Given the description of an element on the screen output the (x, y) to click on. 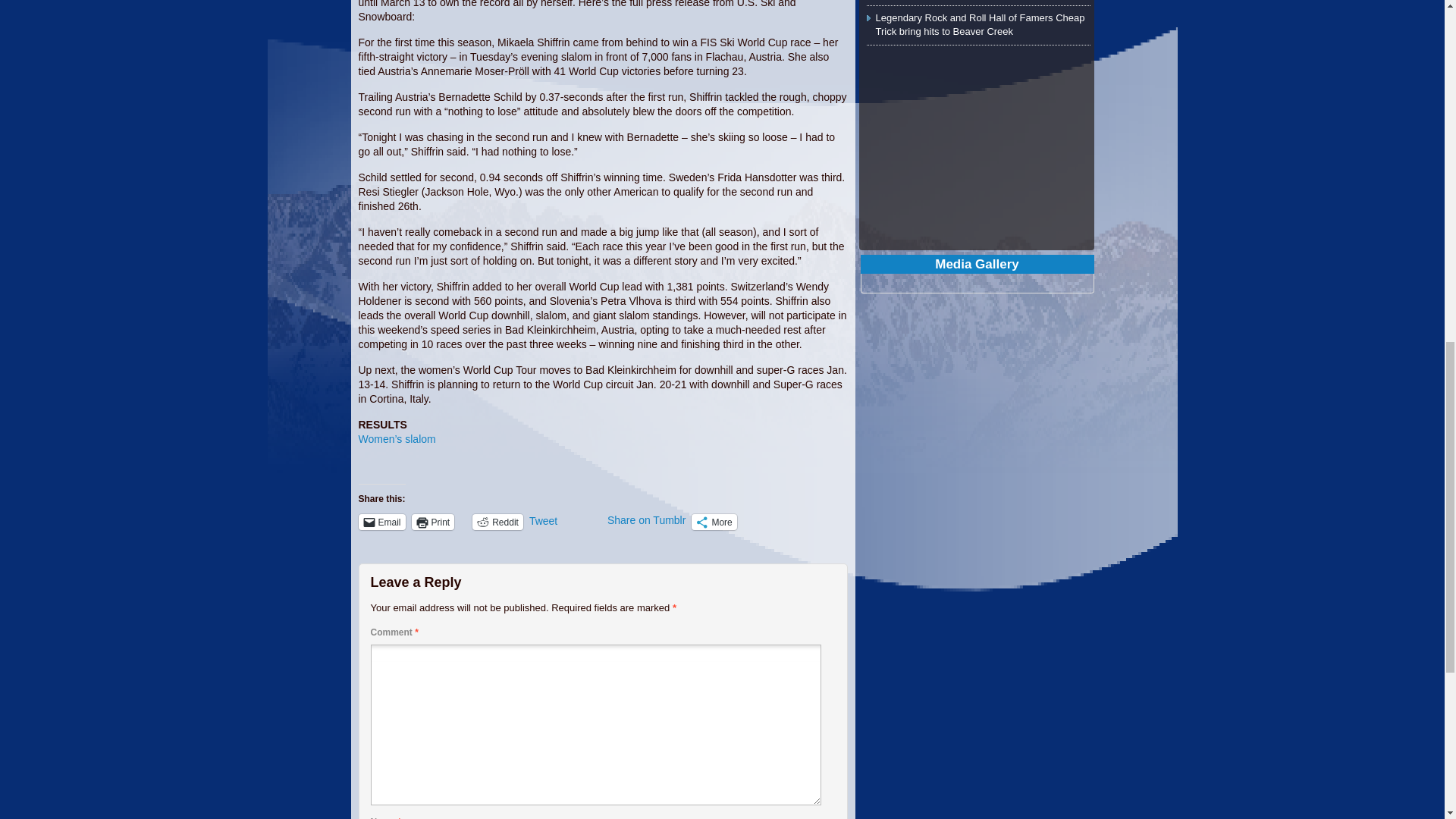
Share on Tumblr (646, 520)
Email (381, 521)
Reddit (496, 521)
Share on Tumblr (646, 520)
Tweet (565, 521)
Click to print (433, 521)
Click to email a link to a friend (381, 521)
Print (433, 521)
Click to share on Reddit (496, 521)
